Given the description of an element on the screen output the (x, y) to click on. 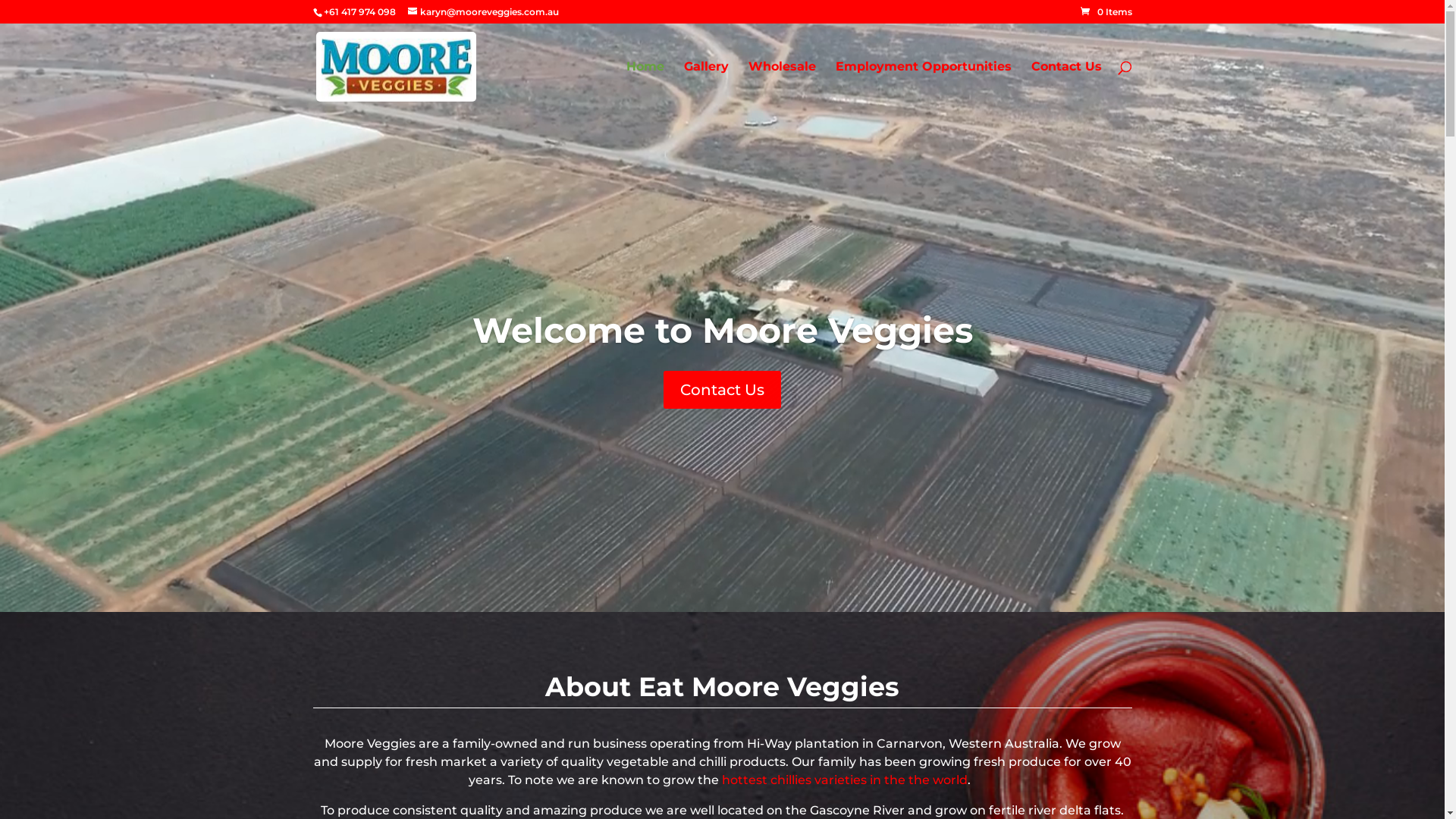
karyn@mooreveggies.com.au Element type: text (482, 11)
Welcome to Moore Veggies Element type: text (721, 329)
Employment Opportunities Element type: text (923, 85)
Contact Us Element type: text (722, 389)
Contact Us Element type: text (1066, 85)
Gallery Element type: text (706, 85)
Home Element type: text (645, 85)
+61 417 974 098 Element type: text (359, 11)
0 Items Element type: text (1105, 11)
Wholesale Element type: text (781, 85)
